Given the description of an element on the screen output the (x, y) to click on. 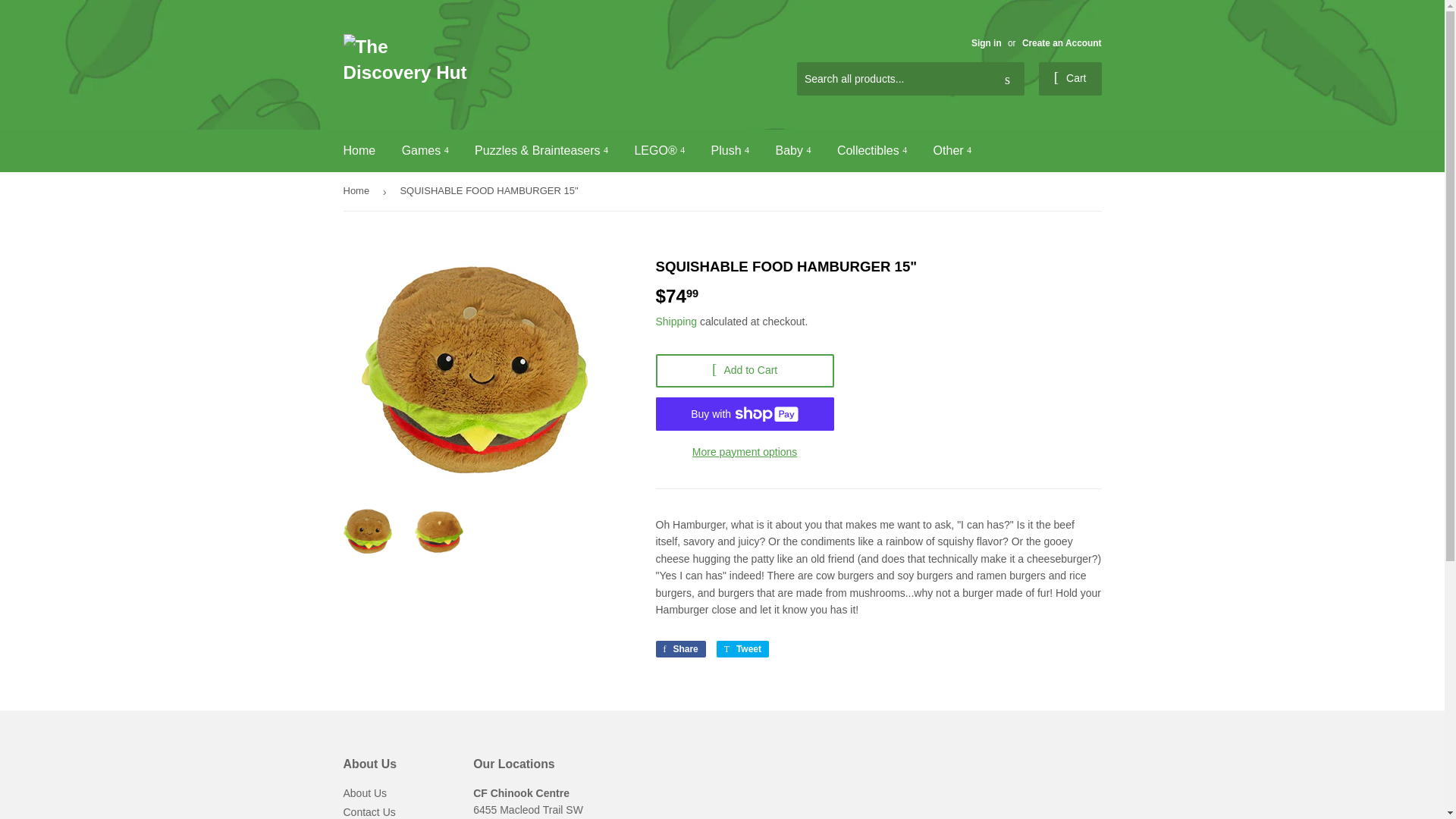
Tweet on Twitter (742, 648)
Cart (1070, 78)
Create an Account (1062, 42)
Sign in (986, 42)
Search (1007, 79)
Share on Facebook (679, 648)
